Given the description of an element on the screen output the (x, y) to click on. 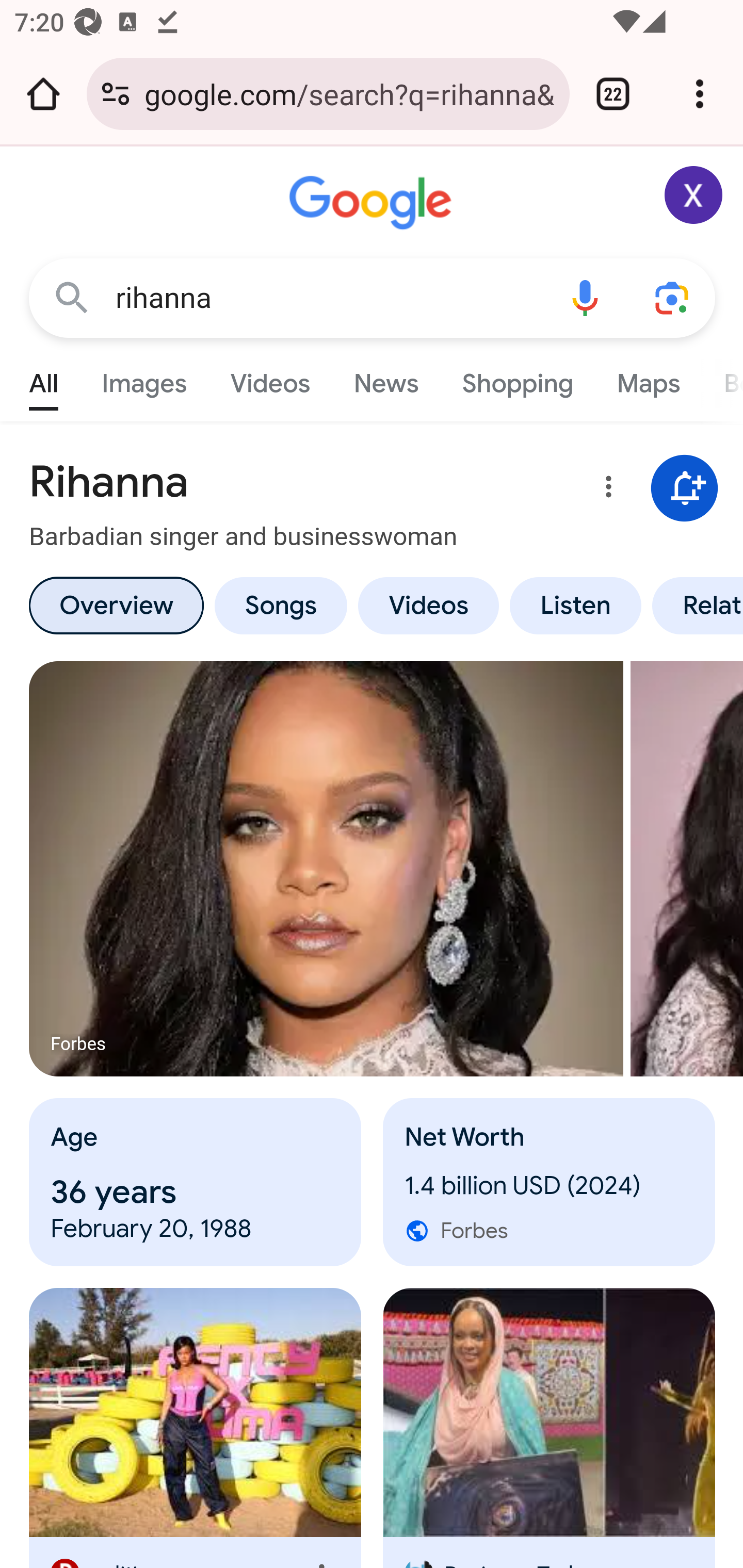
Open the home page (43, 93)
Connection is secure (115, 93)
Switch or close tabs (612, 93)
Customize and control Google Chrome (699, 93)
Google (372, 203)
Google Account: Xiaoran (zxrappiumtest@gmail.com) (694, 195)
Google Search (71, 296)
Search using your camera or photos (672, 296)
rihanna (328, 297)
Images (144, 378)
Videos (270, 378)
News (385, 378)
Shopping (516, 378)
Maps (647, 378)
Get notifications about Rihanna (684, 489)
More options (605, 489)
Overview (116, 605)
Songs (280, 605)
Videos (428, 605)
Listen (575, 605)
Relationships (694, 605)
